Given the description of an element on the screen output the (x, y) to click on. 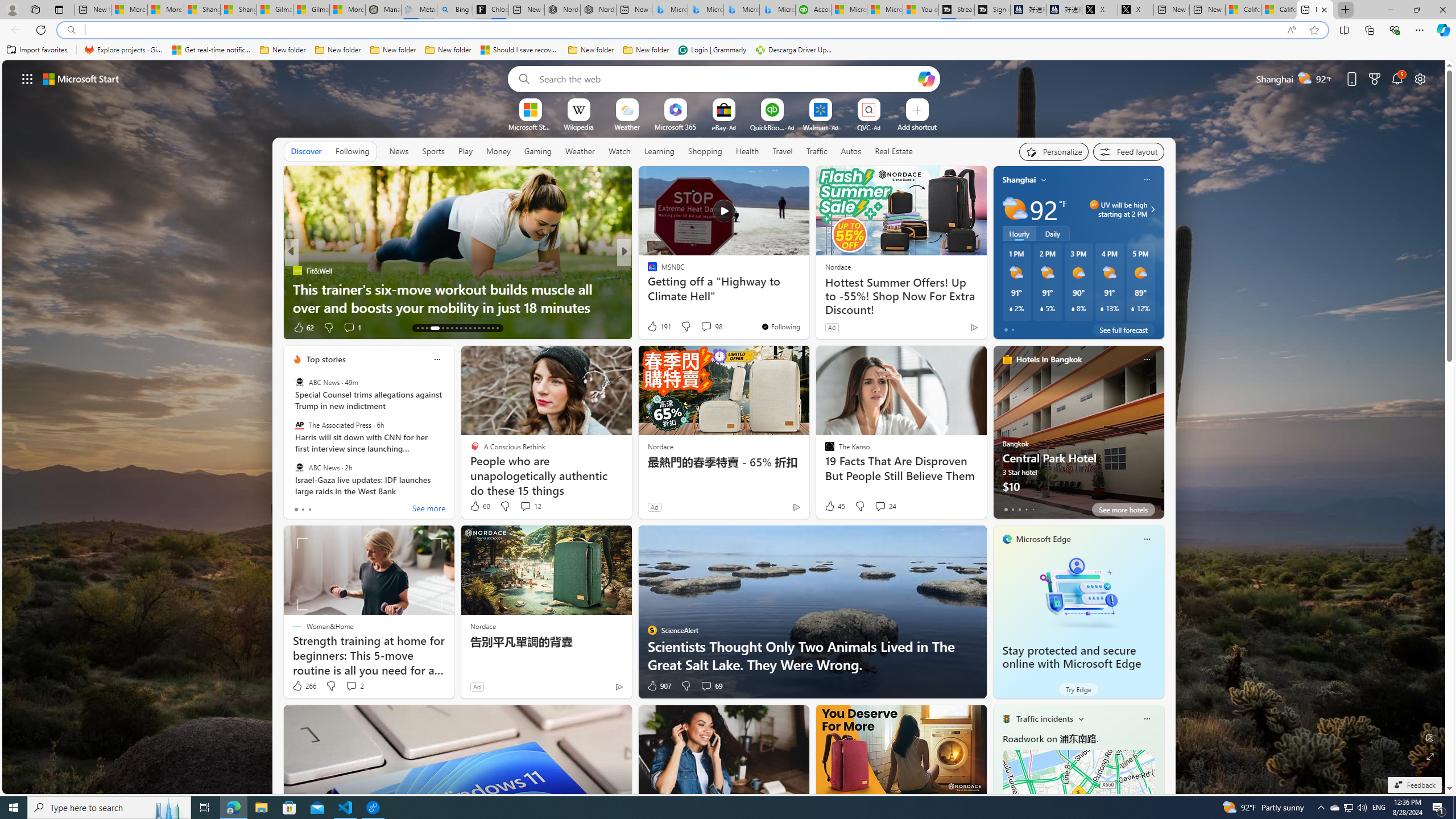
hotels-header-icon (1006, 358)
View comments 16 Comment (707, 327)
60 Like (479, 505)
152 Like (654, 327)
AutomationID: tab-29 (497, 328)
Axios (647, 270)
AutomationID: tab-21 (460, 328)
